Given the description of an element on the screen output the (x, y) to click on. 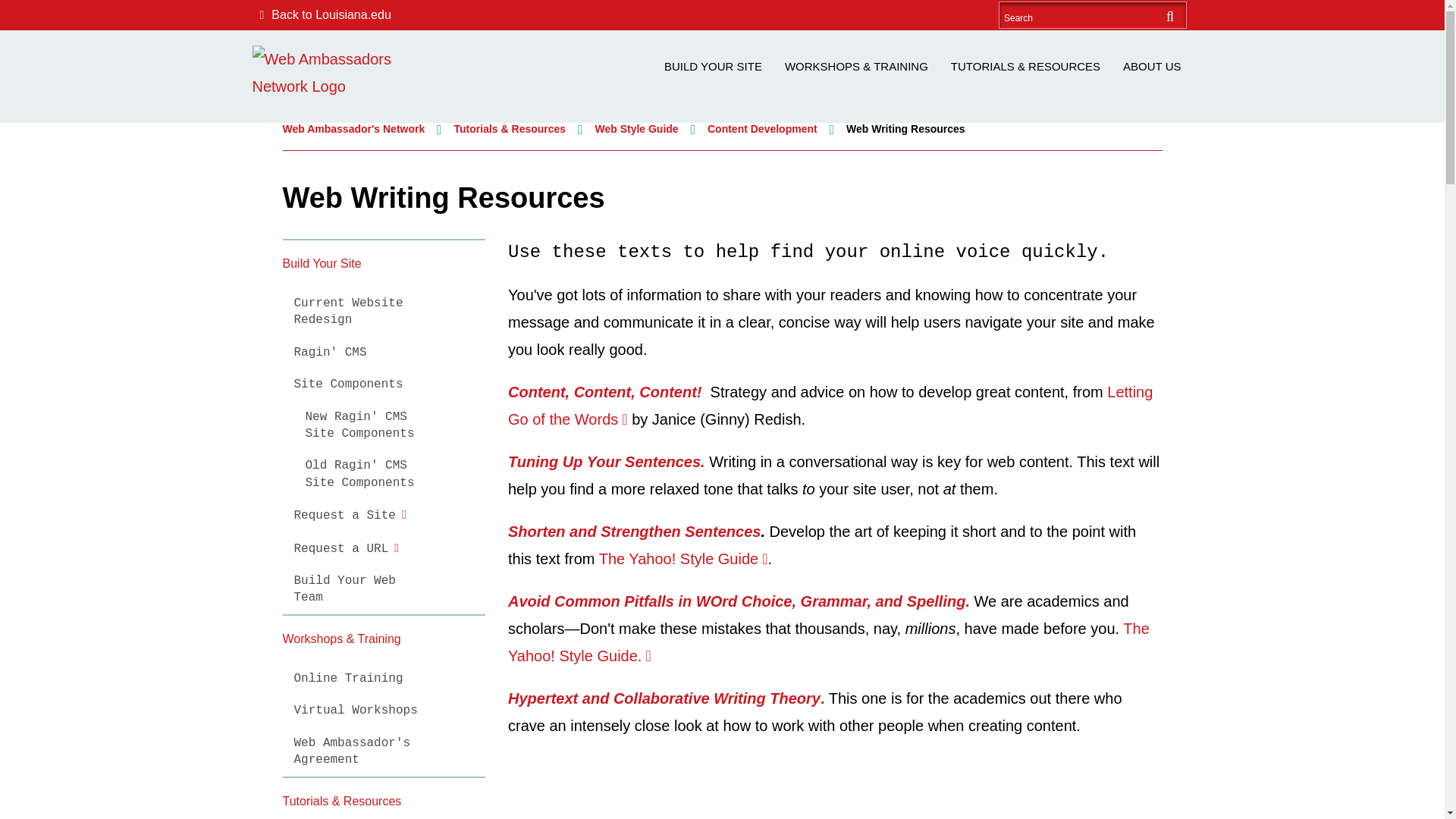
Web Ambassador's Network (338, 72)
BUILD YOUR SITE (712, 66)
Web Ambassador's Network (353, 128)
ABOUT US (1152, 66)
Back to Louisiana.edu (320, 15)
Enter the terms you wish to search for. (1078, 15)
